Given the description of an element on the screen output the (x, y) to click on. 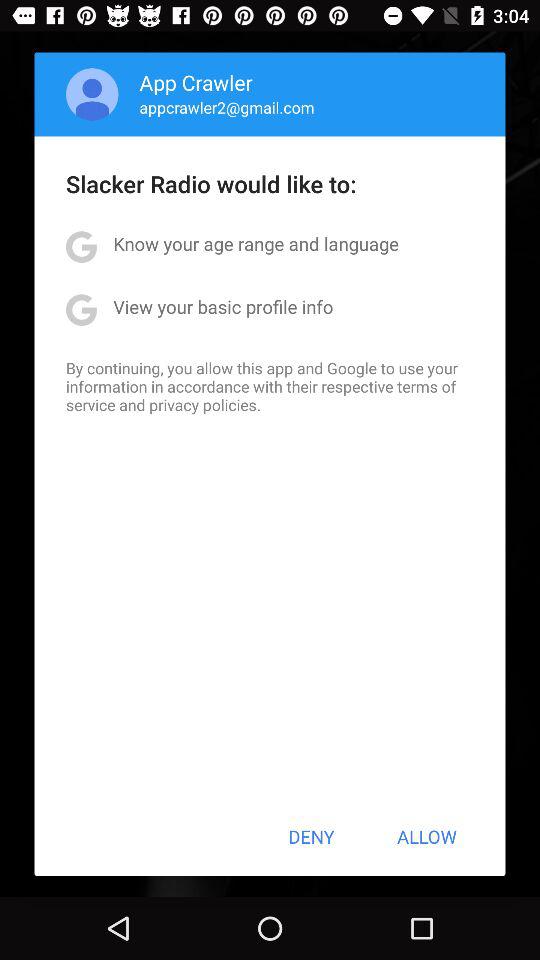
choose app below the know your age app (223, 306)
